Given the description of an element on the screen output the (x, y) to click on. 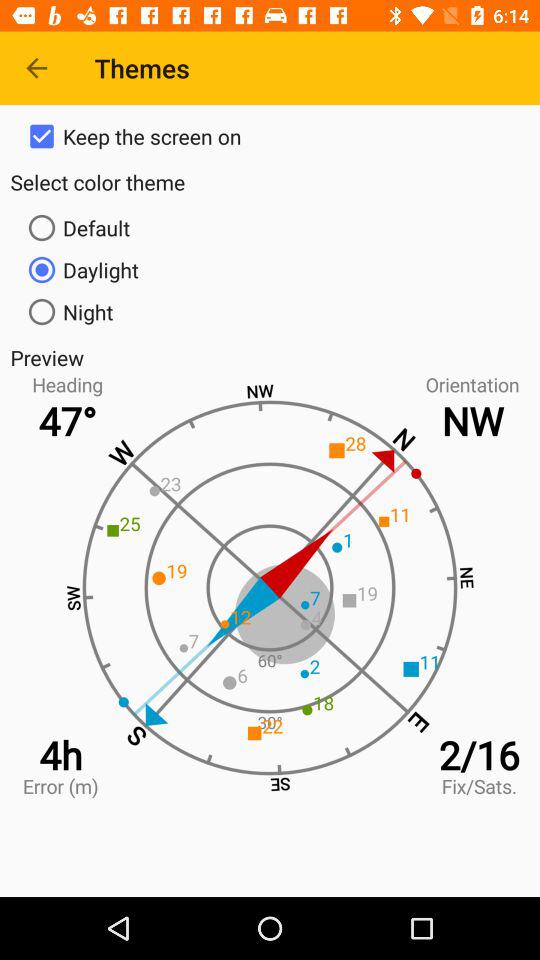
swipe to the default (270, 228)
